Given the description of an element on the screen output the (x, y) to click on. 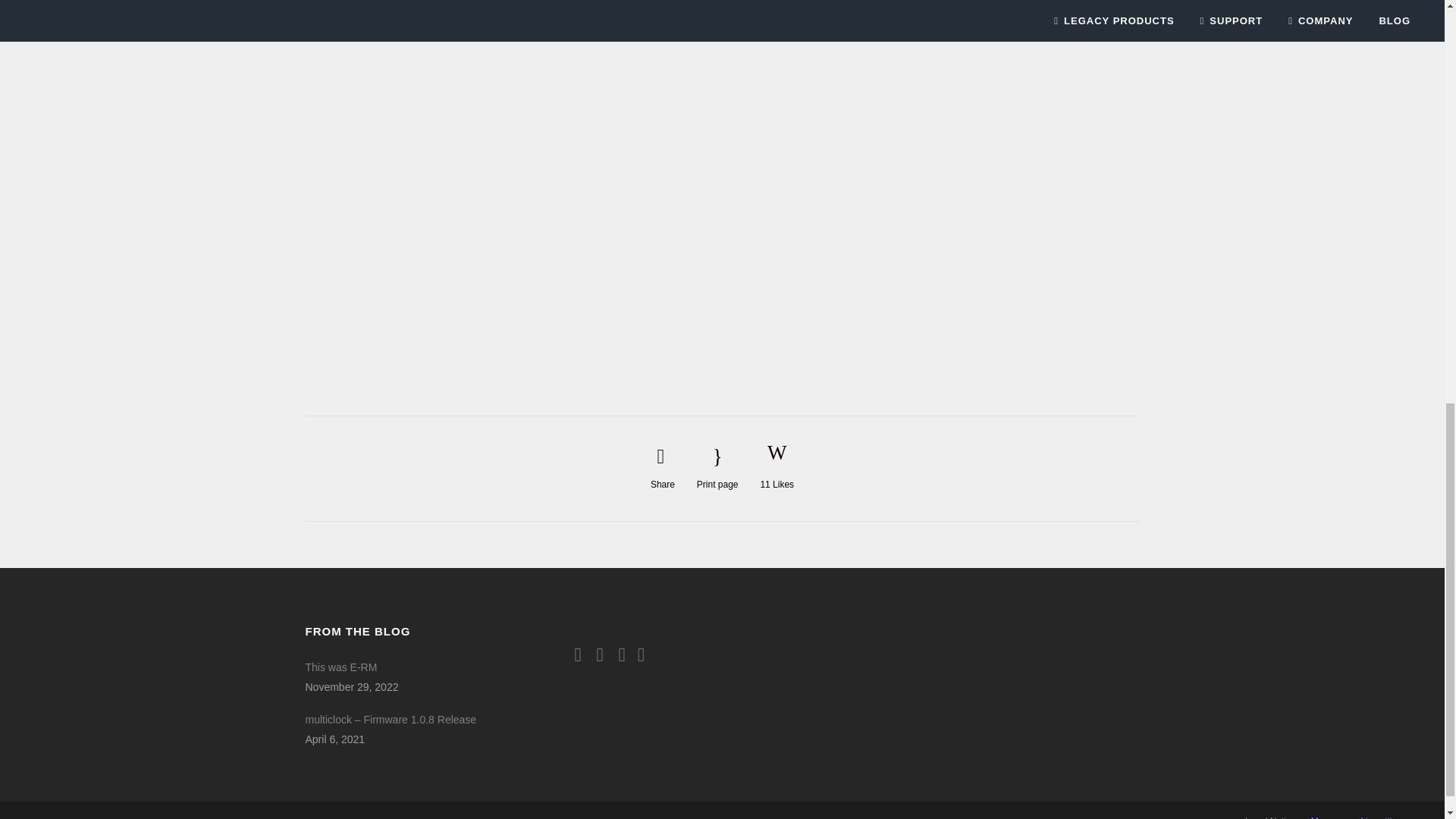
Print page (717, 467)
11 Likes (776, 468)
This was E-RM (403, 667)
Share (662, 467)
Like this (776, 468)
